Given the description of an element on the screen output the (x, y) to click on. 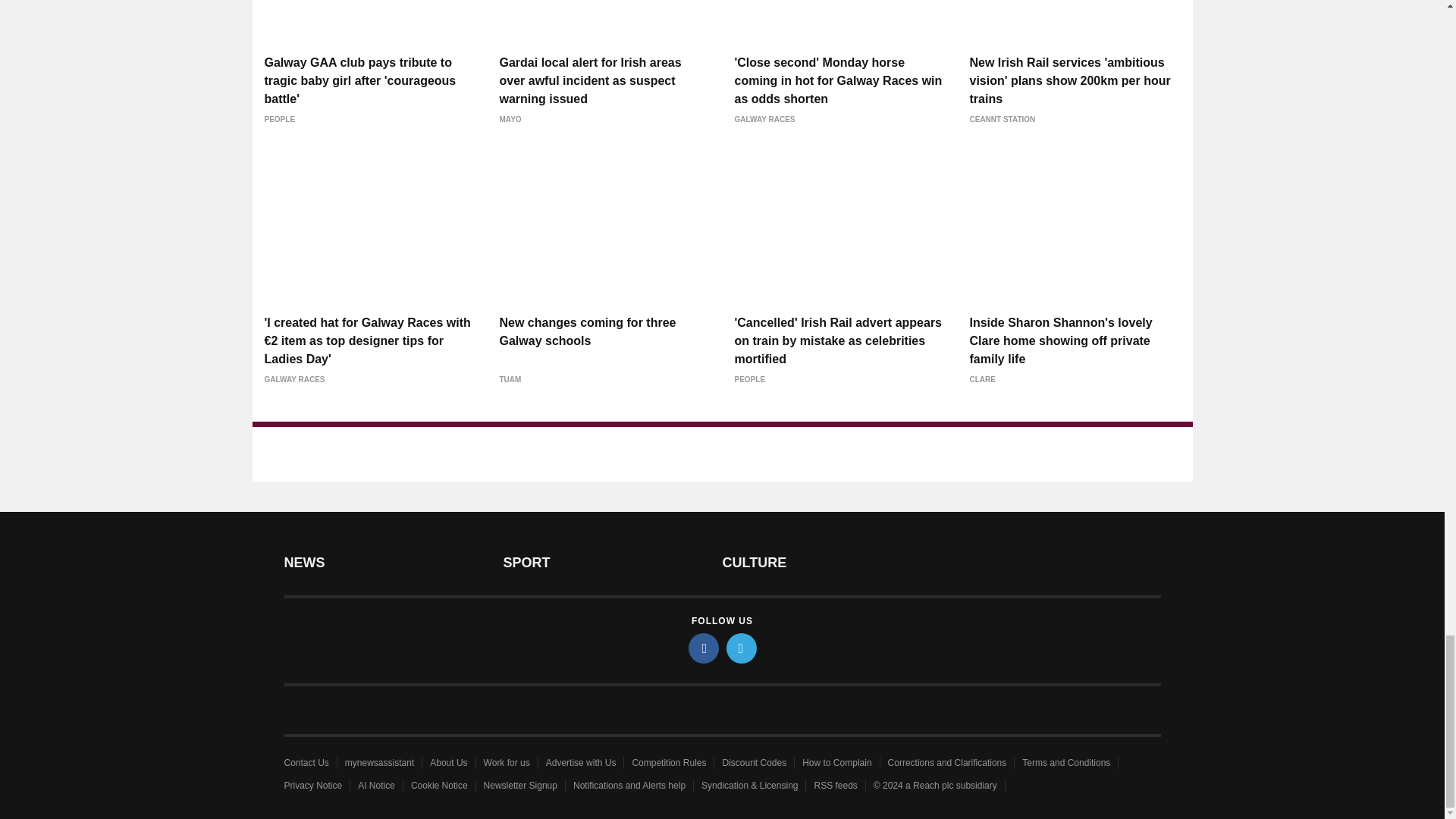
twitter (741, 648)
facebook (703, 648)
